Given the description of an element on the screen output the (x, y) to click on. 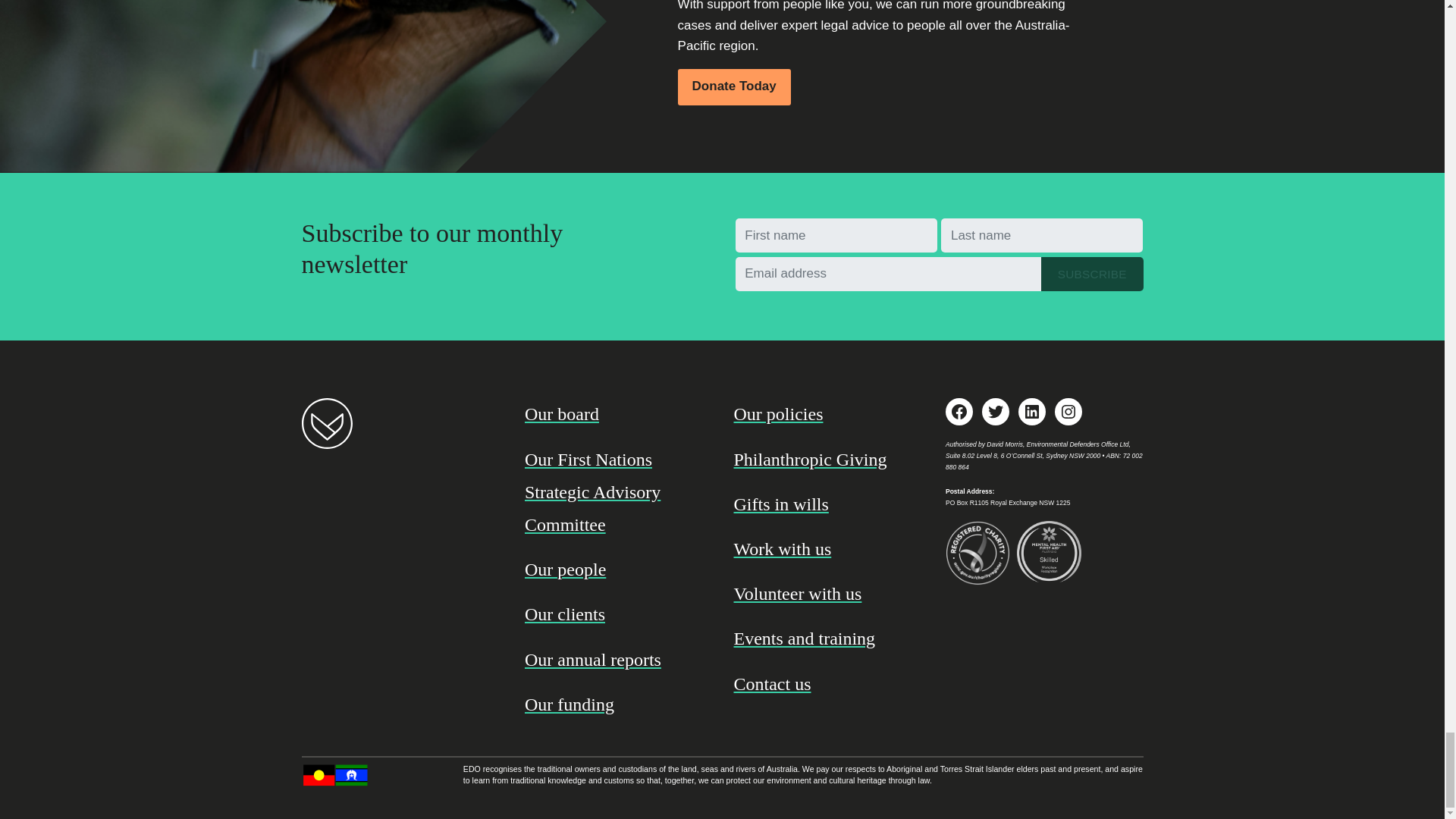
Philanthropic Giving (826, 459)
Subscribe (1091, 274)
Our clients (617, 614)
Work with us (826, 549)
Our funding (617, 704)
Our board (617, 414)
Our annual reports (617, 659)
Our First Nations Strategic Advisory Committee (617, 492)
Our policies (826, 414)
Our people (617, 569)
Donate Today (734, 86)
Gifts in wills (826, 504)
Subscribe (1091, 274)
